Given the description of an element on the screen output the (x, y) to click on. 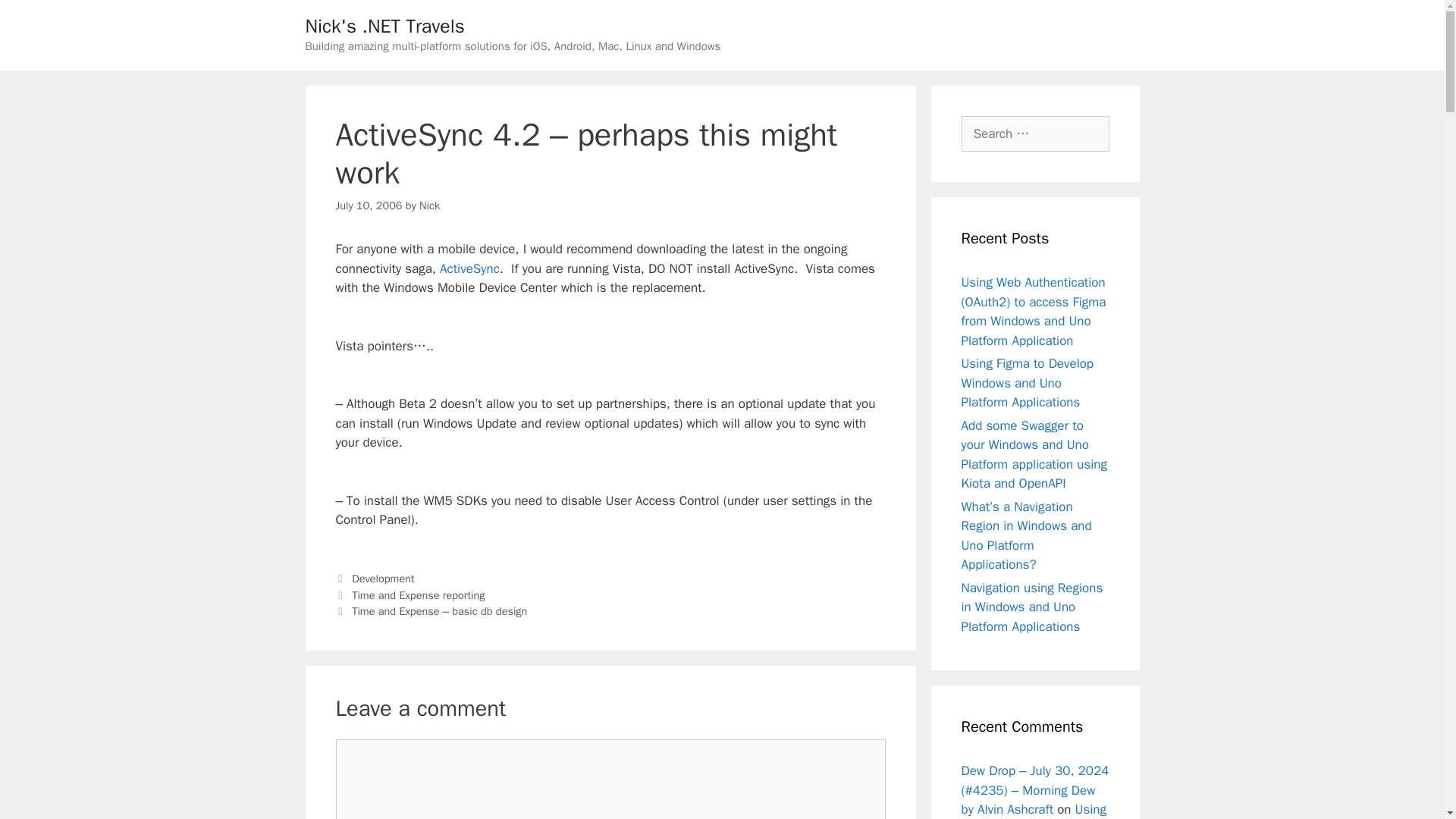
View all posts by Nick (429, 205)
Development (382, 578)
Time and Expense reporting (418, 594)
ActiveSync (469, 268)
Nick (429, 205)
Search for: (1034, 133)
Using Figma to Develop Windows and Uno Platform Applications (1033, 810)
Search (35, 18)
Nick's .NET Travels (384, 25)
Using Figma to Develop Windows and Uno Platform Applications (1027, 382)
